Given the description of an element on the screen output the (x, y) to click on. 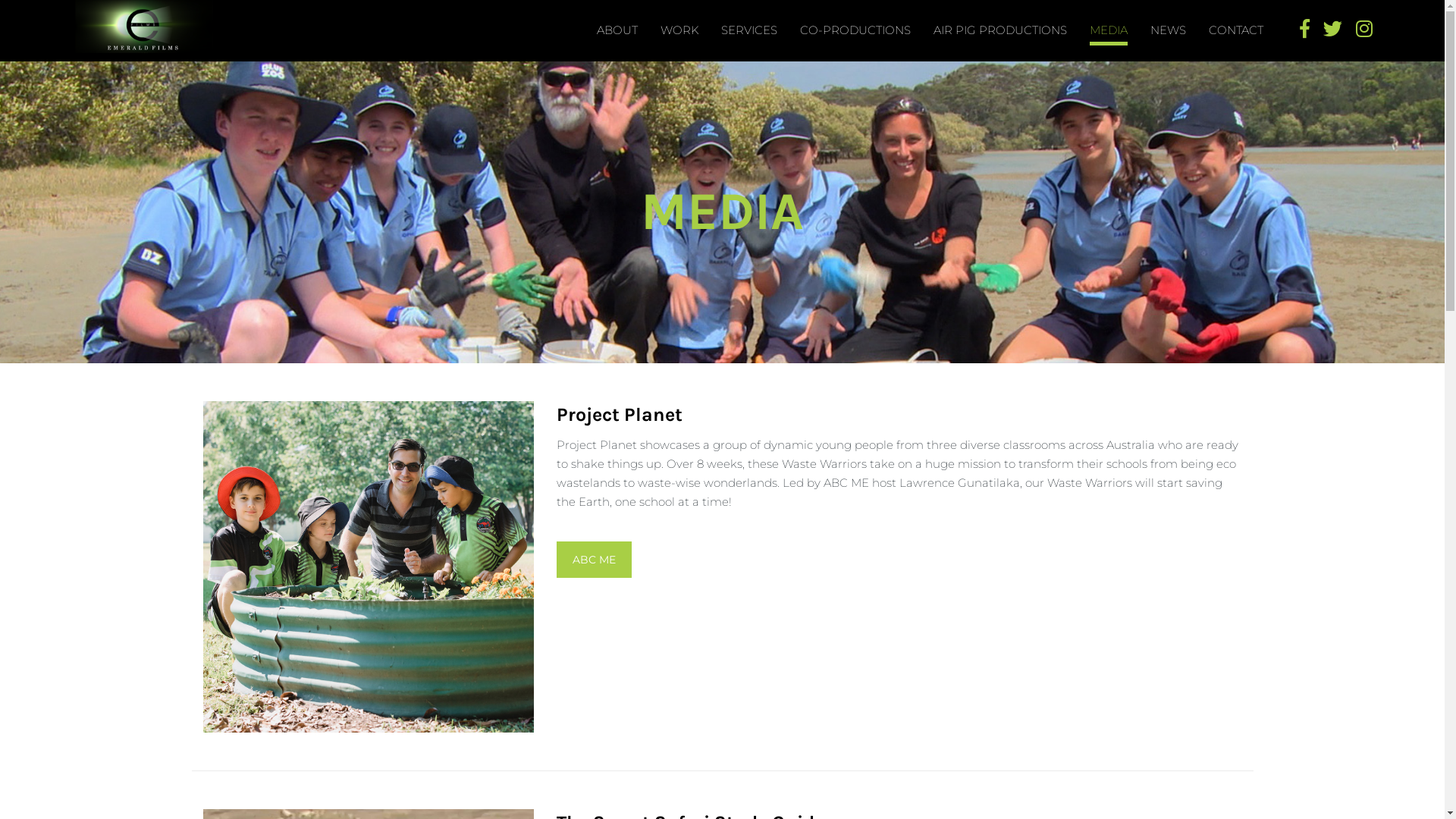
MEDIA Element type: text (1108, 33)
SERVICES Element type: text (749, 29)
CO-PRODUCTIONS Element type: text (855, 29)
ABC ME Element type: text (593, 559)
CONTACT Element type: text (1235, 29)
ABOUT Element type: text (616, 29)
AIR PIG PRODUCTIONS Element type: text (999, 29)
NEWS Element type: text (1168, 29)
WORK Element type: text (679, 29)
